Given the description of an element on the screen output the (x, y) to click on. 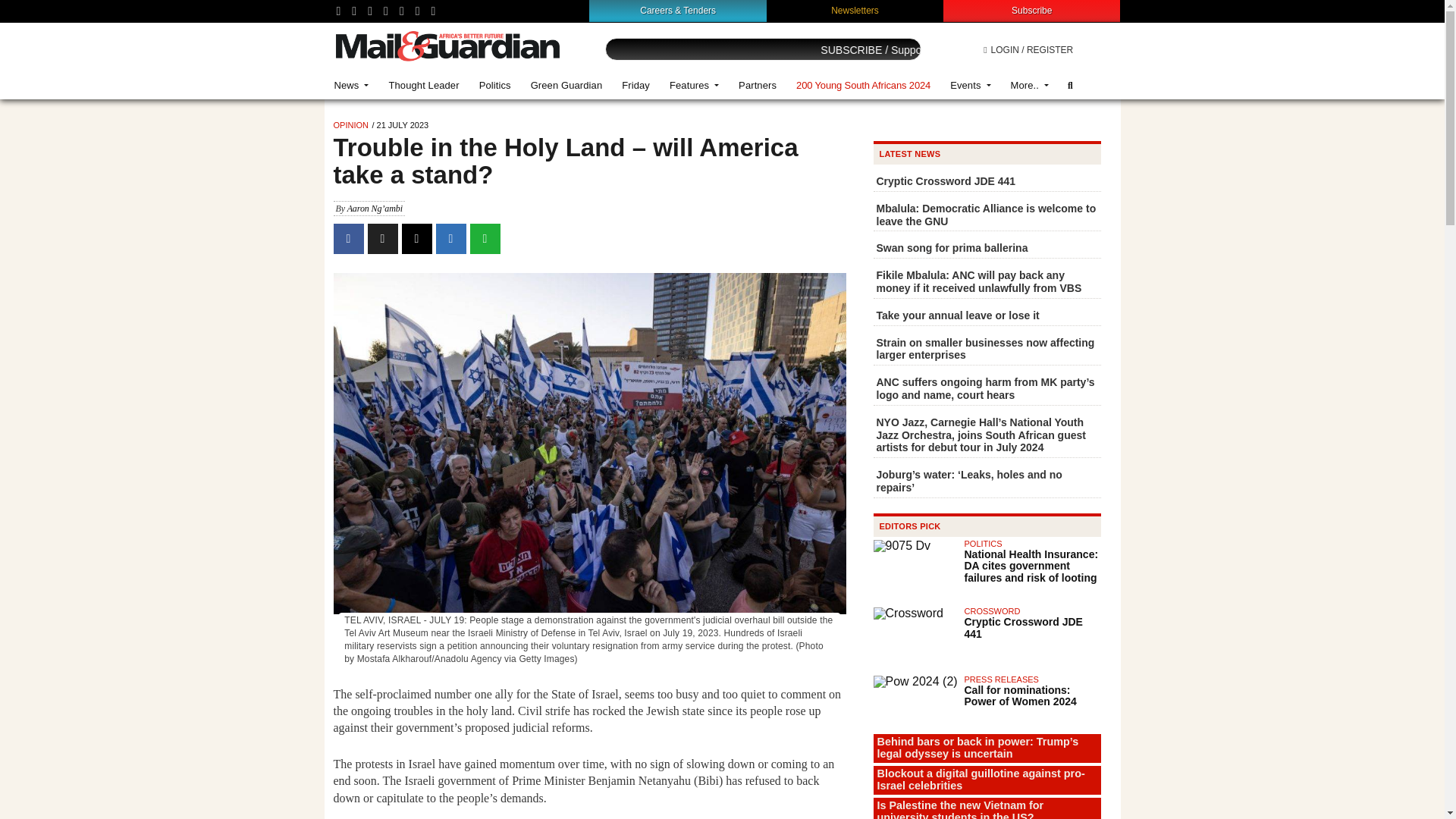
Thought Leader (423, 85)
Newsletters (855, 9)
Green Guardian (566, 85)
Features (694, 85)
Subscribe (1031, 9)
News (351, 85)
Friday (635, 85)
Politics (494, 85)
News (351, 85)
